Given the description of an element on the screen output the (x, y) to click on. 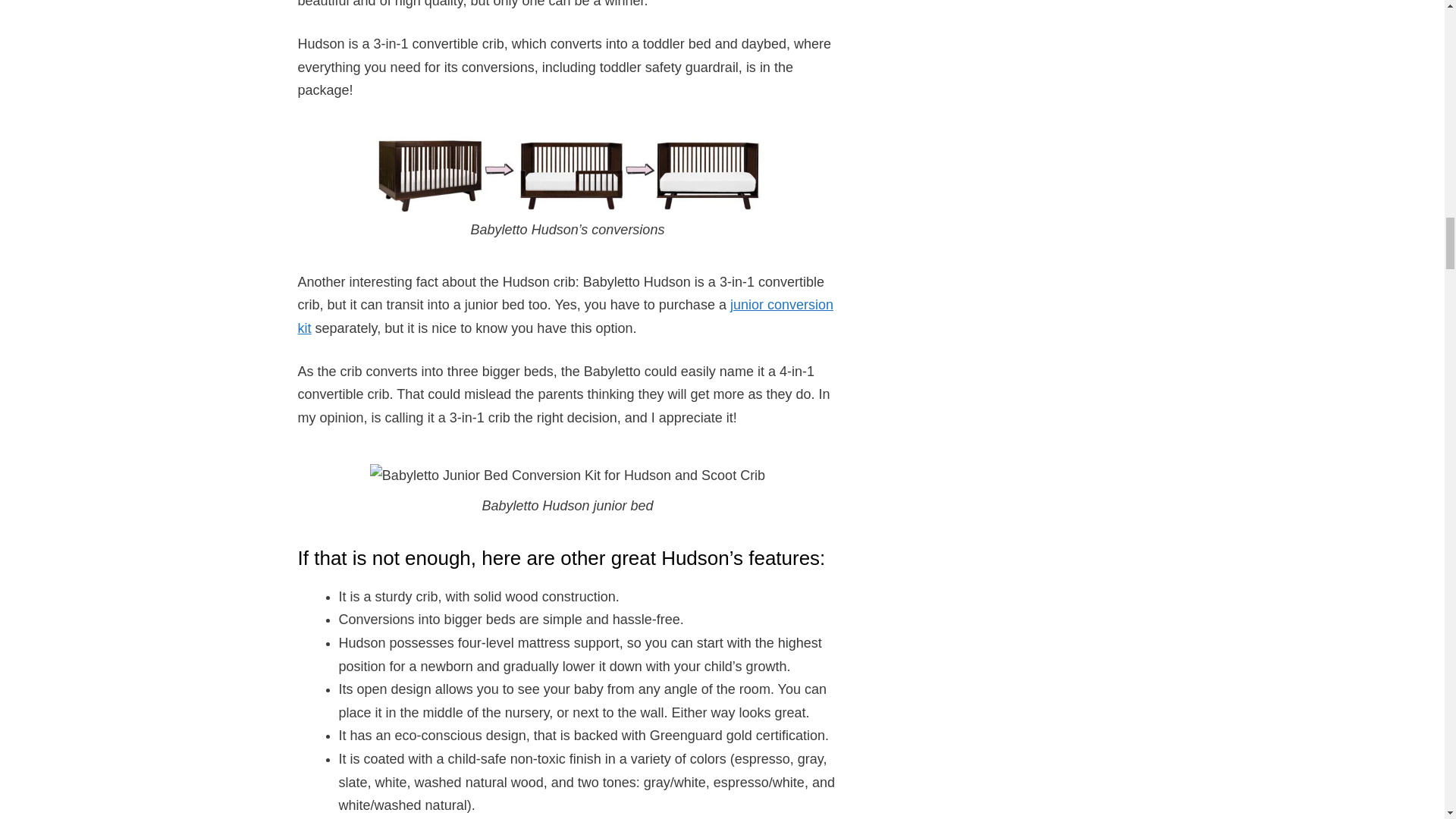
Amazon Affiliate Link (565, 316)
